Given the description of an element on the screen output the (x, y) to click on. 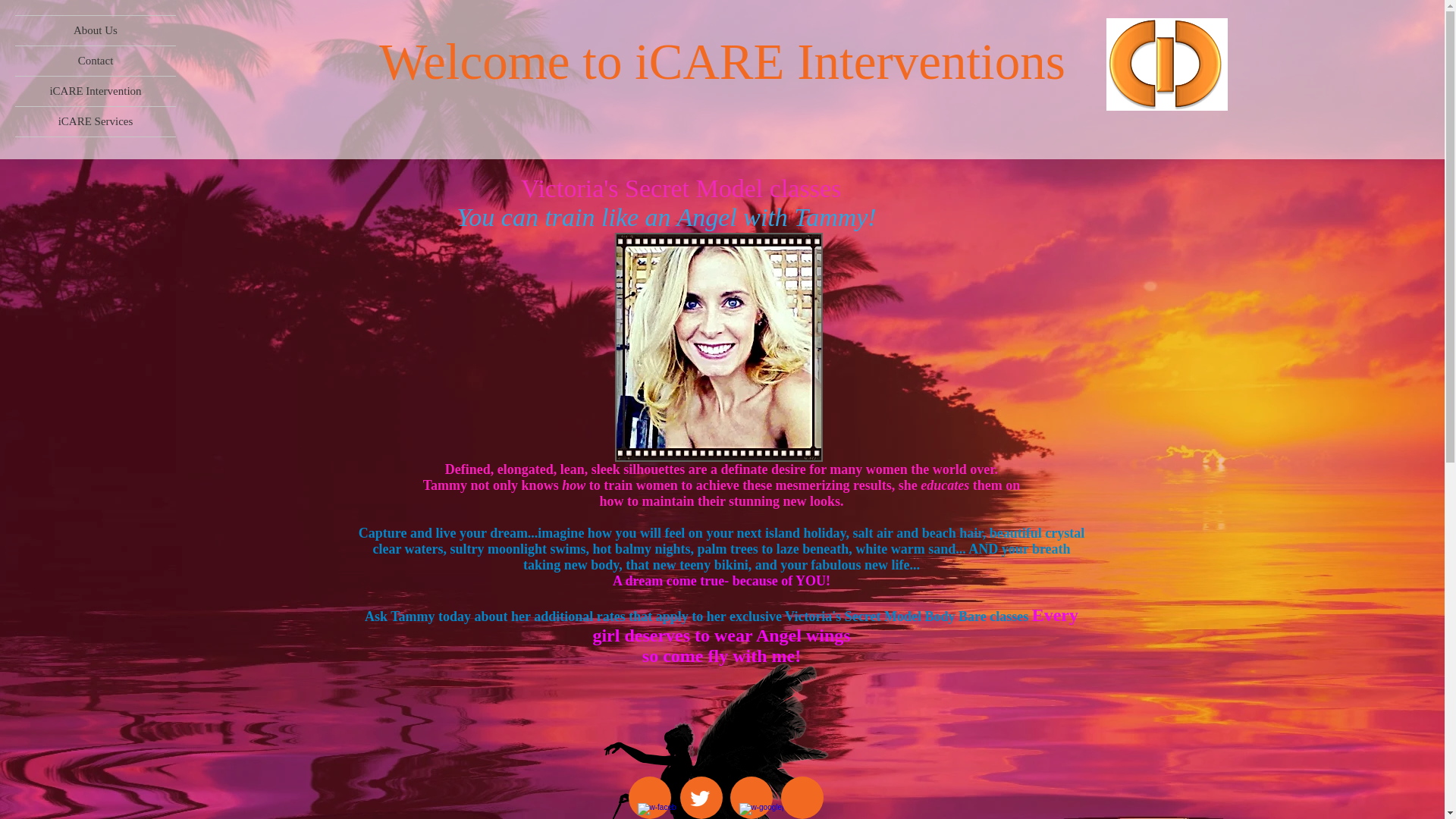
Contact Element type: text (95, 60)
iCARE Intervention Element type: text (95, 91)
iCARE Services Element type: text (95, 121)
About Us Element type: text (95, 30)
